Given the description of an element on the screen output the (x, y) to click on. 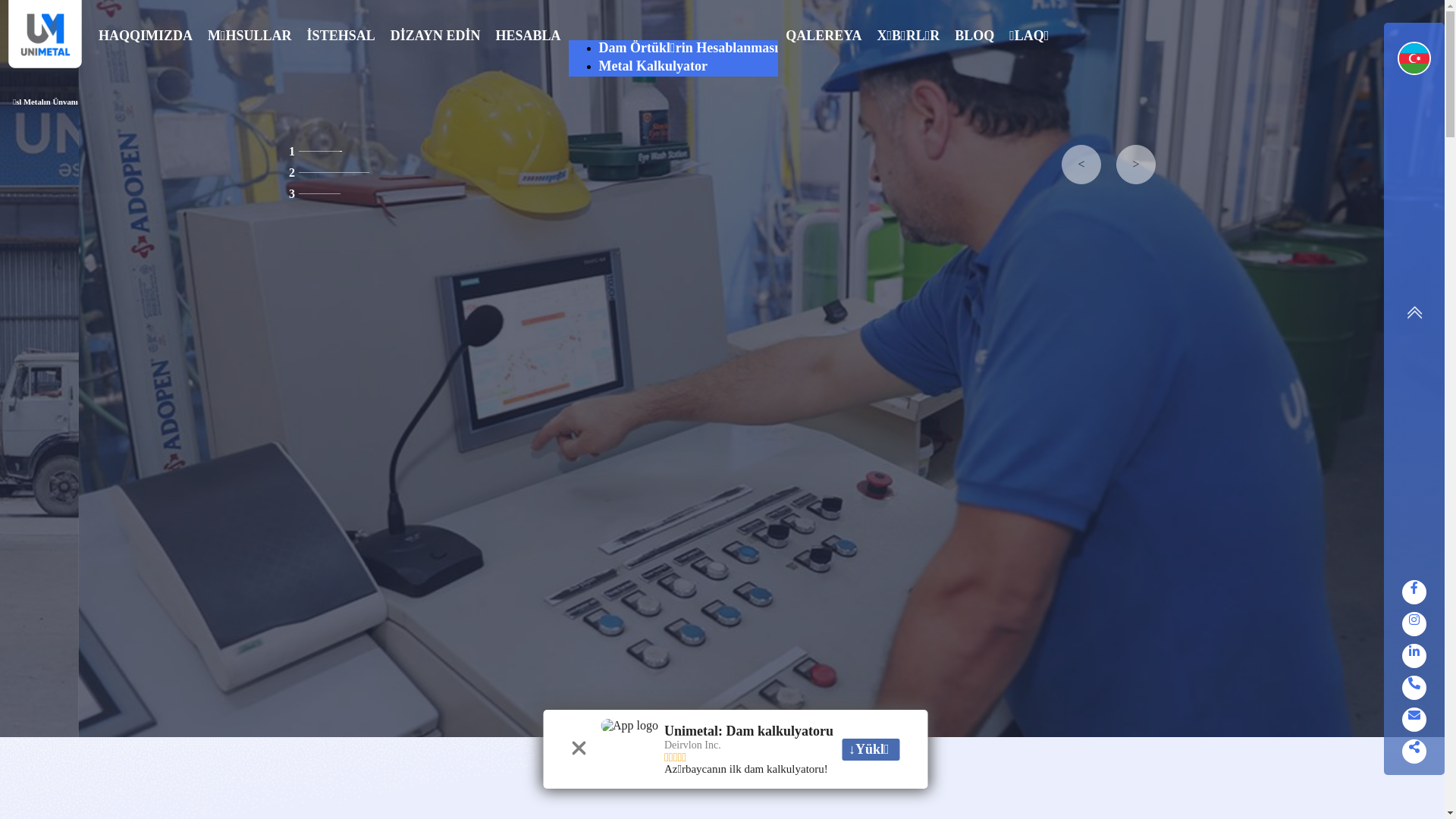
HESABLA Element type: text (528, 58)
QALEREYA Element type: text (823, 58)
Metal Kalkulyator Element type: text (688, 67)
HAQQIMIZDA Element type: text (145, 58)
BLOQ Element type: text (974, 58)
